Given the description of an element on the screen output the (x, y) to click on. 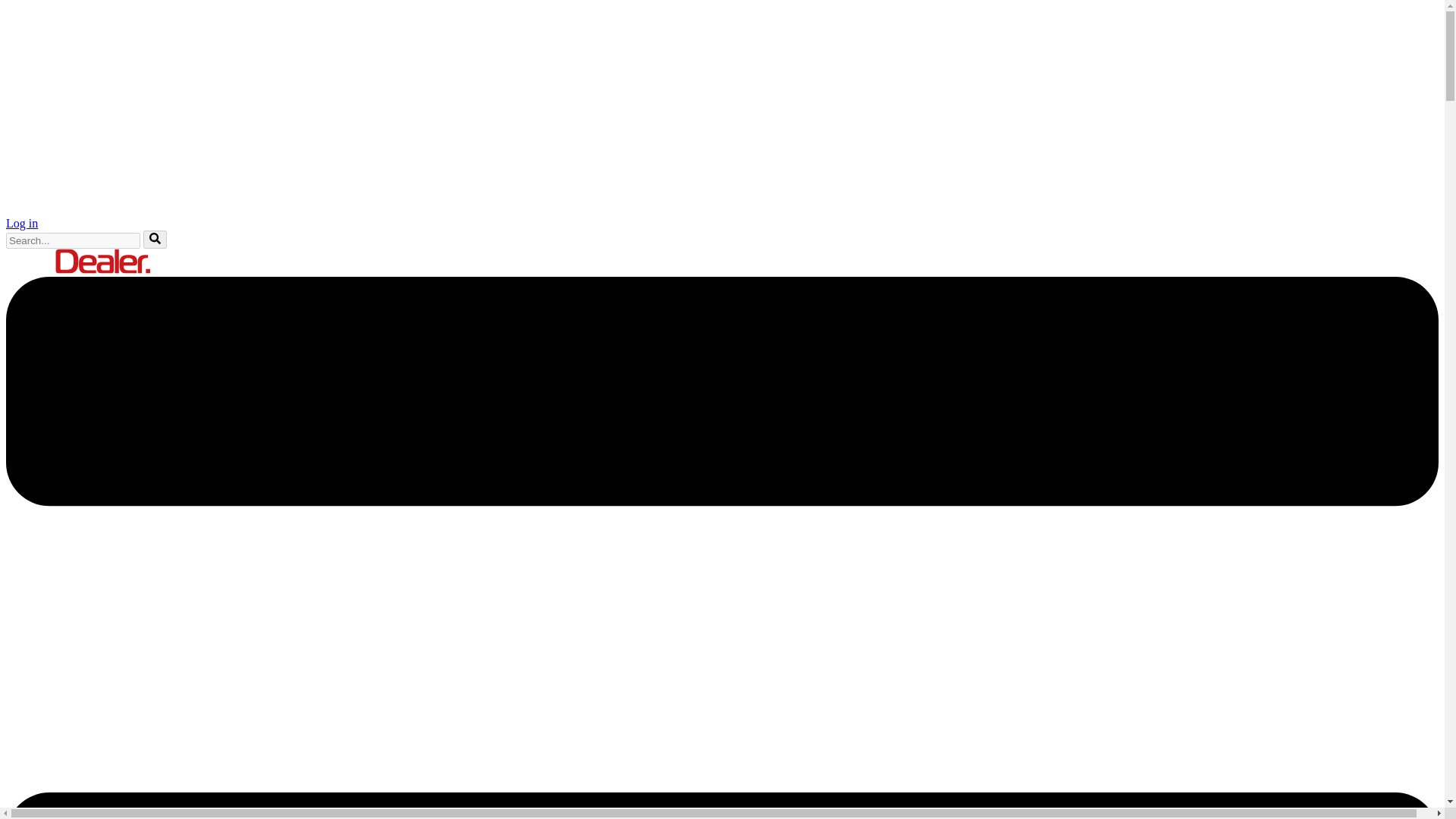
Log in (21, 223)
